Given the description of an element on the screen output the (x, y) to click on. 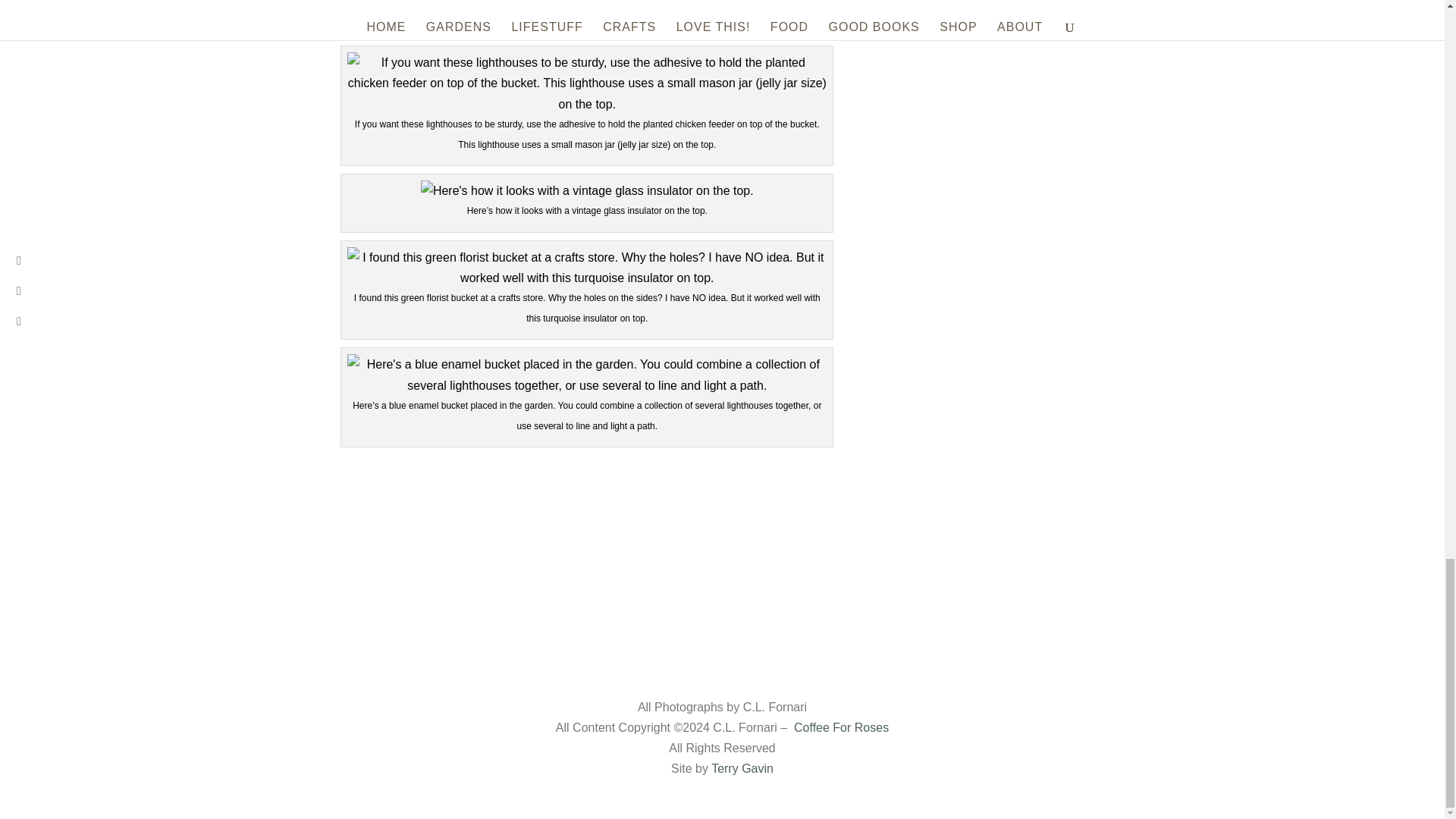
Coffee For Roses (840, 727)
Terry Gavin (742, 768)
Terry Gavin (742, 768)
